Given the description of an element on the screen output the (x, y) to click on. 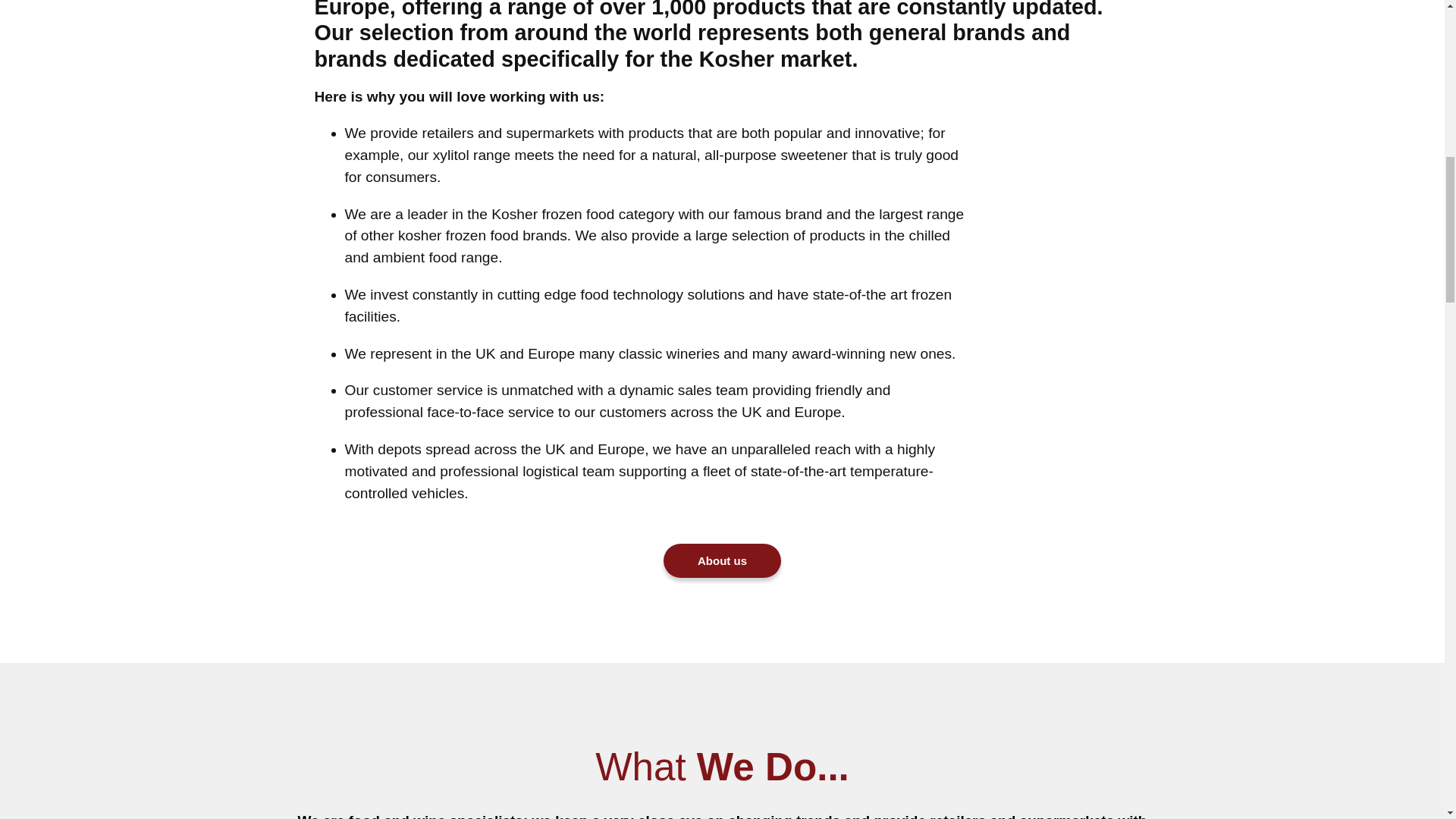
About us (721, 560)
